Given the description of an element on the screen output the (x, y) to click on. 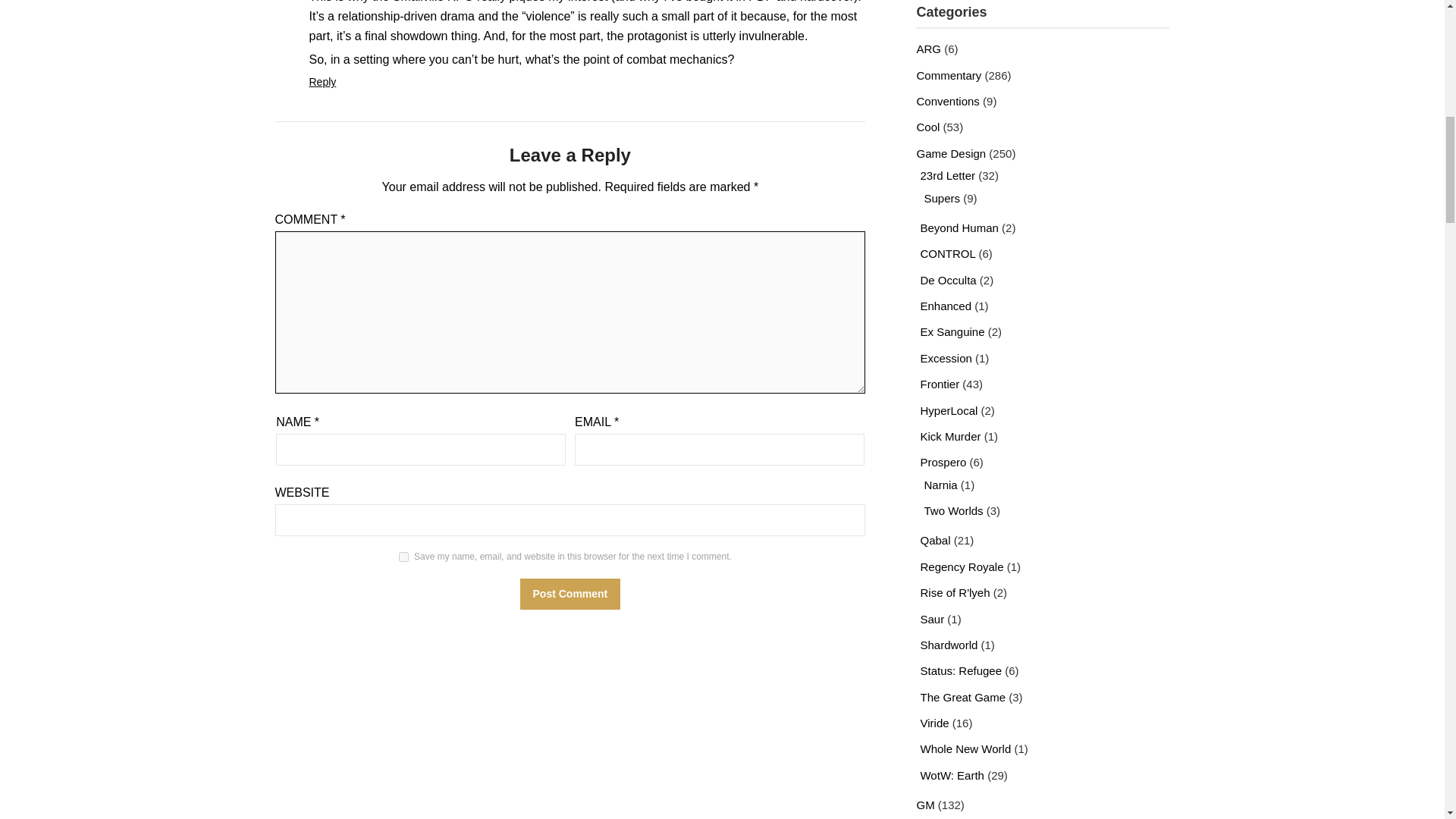
Beyond Human (958, 227)
Conventions (946, 101)
Supers (941, 196)
Cool (927, 126)
Post Comment (570, 593)
Ex Sanguine (952, 331)
Excession (945, 358)
23rd Letter (947, 174)
Game Design (950, 153)
Enhanced (945, 305)
yes (403, 556)
Reply (322, 81)
Commentary (948, 74)
CONTROL (947, 253)
De Occulta (947, 279)
